Given the description of an element on the screen output the (x, y) to click on. 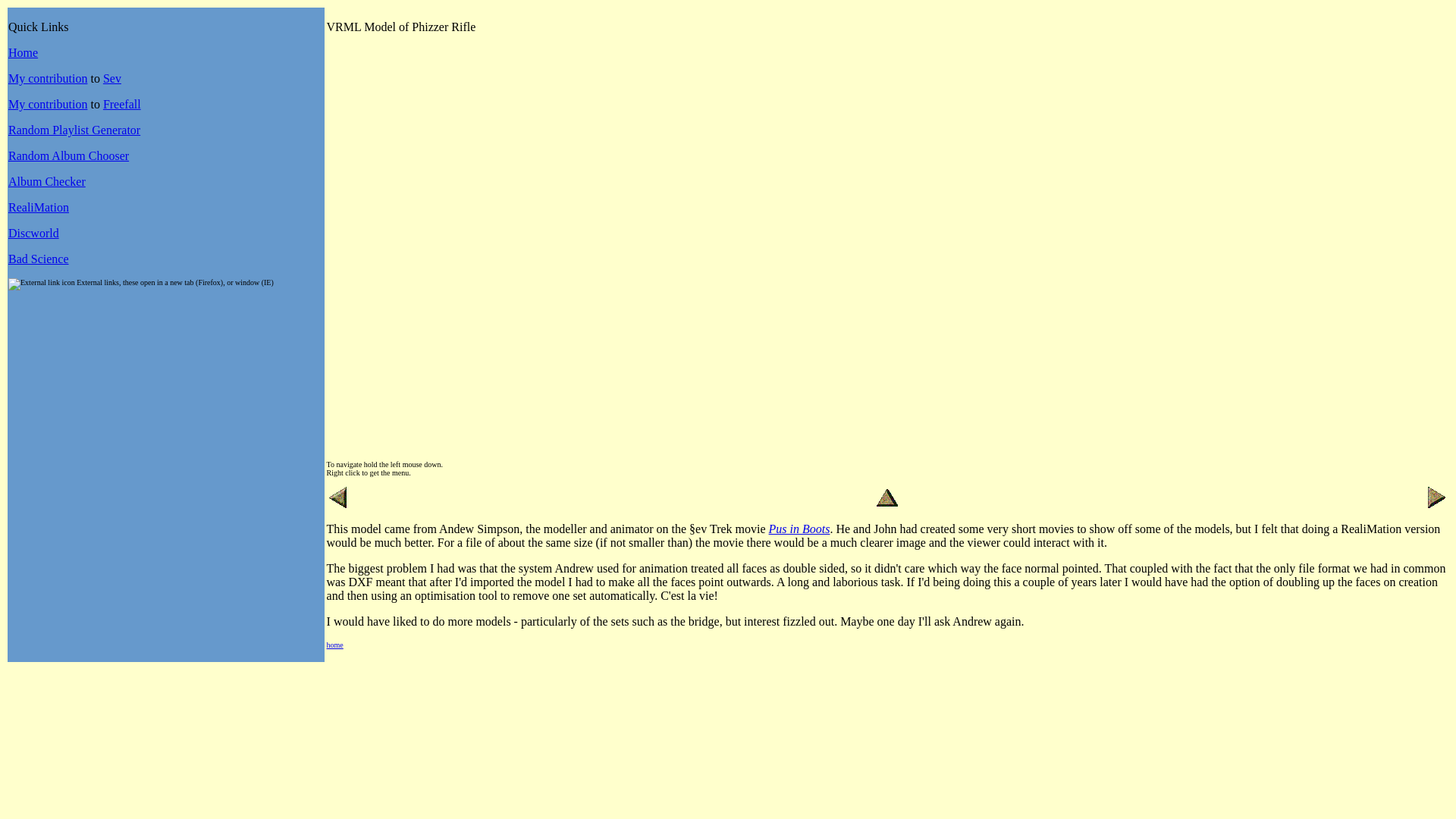
The Worlde on a Dysc (33, 232)
The History of Realimation (38, 206)
Freefall in Colour (47, 103)
Bad Science (38, 258)
My contribution (47, 103)
Home (22, 51)
Random Playlist Generator (73, 129)
Freefall (122, 103)
RealiMation (38, 206)
Random Album Chooser (68, 155)
